Given the description of an element on the screen output the (x, y) to click on. 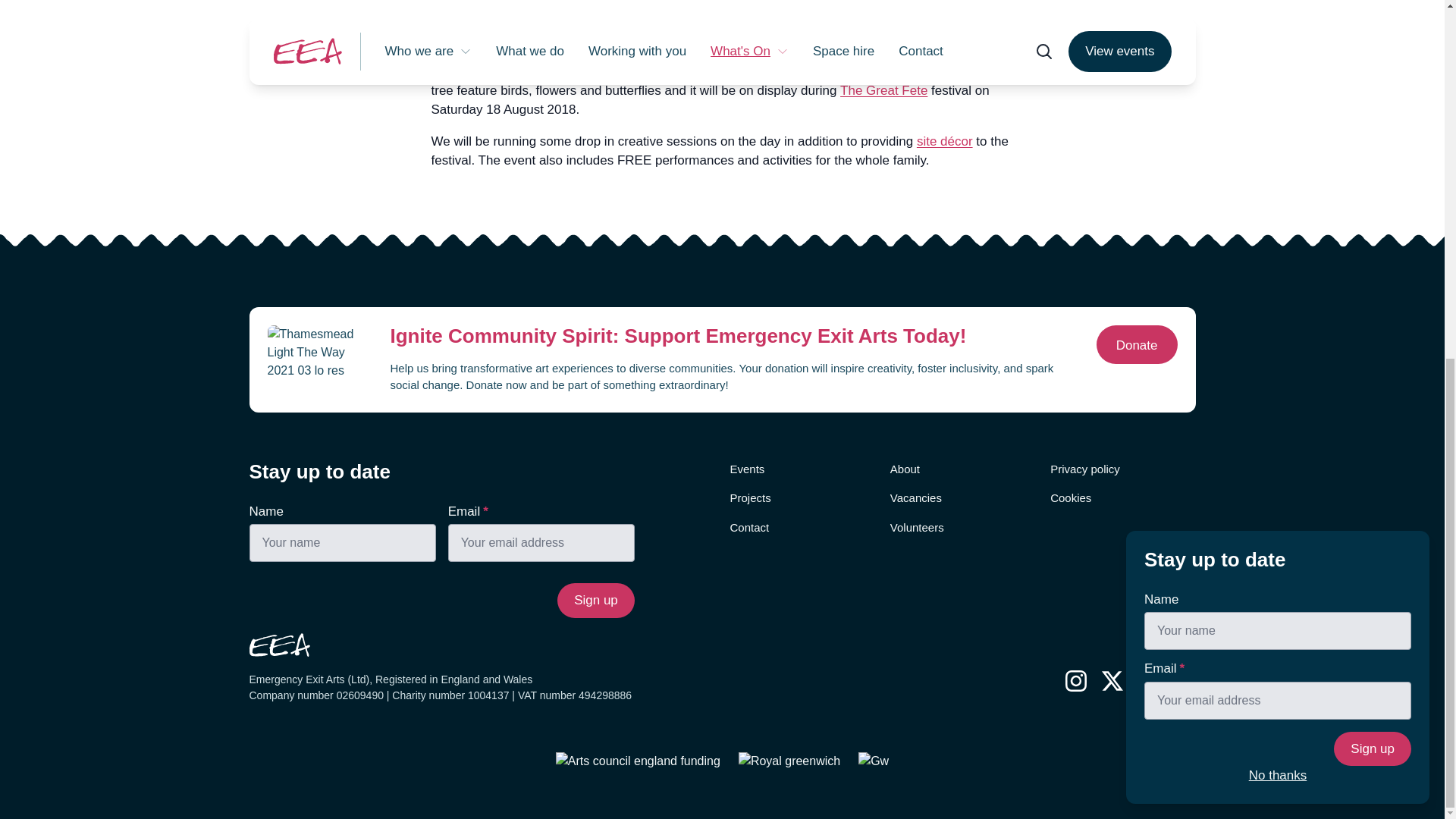
Donate (1136, 344)
About (904, 469)
Contact (748, 528)
Follow us on Instagram (1075, 680)
Vacancies (915, 497)
Follow us on X (1111, 680)
Projects (749, 497)
Events (746, 469)
Alexandra Palace (632, 32)
The Great Fete (883, 90)
Follow us on YouTube (1184, 680)
Follow us on Facebook (1147, 680)
